Given the description of an element on the screen output the (x, y) to click on. 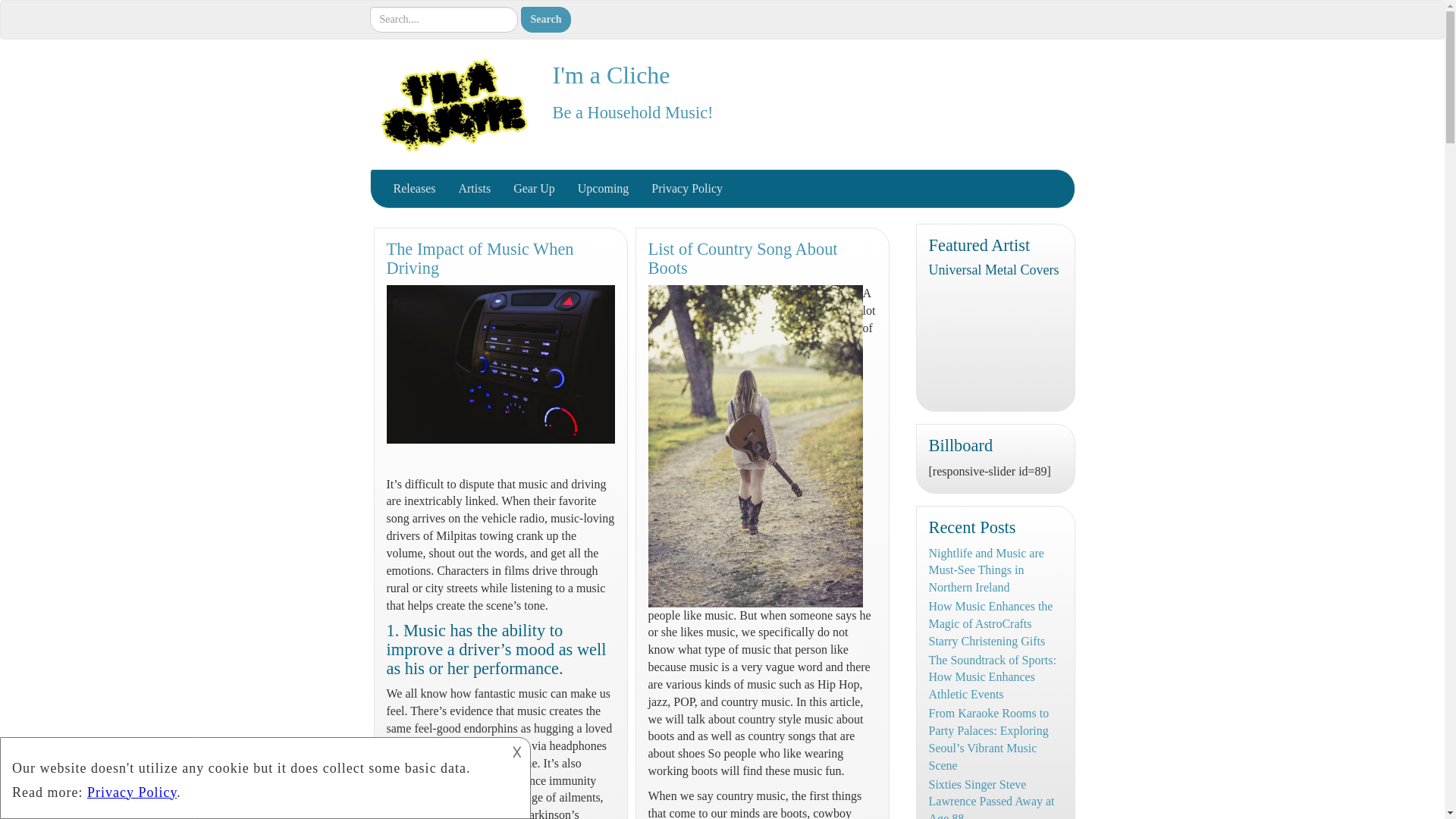
Artists (474, 188)
Privacy Policy (686, 188)
Upcoming (603, 188)
The Impact of Music When Driving (480, 258)
Releases (413, 188)
Search (544, 19)
Gear Up (534, 188)
Gear Up (534, 188)
Be a Household Music! (632, 112)
Artists (474, 188)
List of Country Song About Boots (742, 258)
Upcoming (603, 188)
Releases (413, 188)
The Impact of Music When Driving (480, 258)
Search (544, 19)
